Given the description of an element on the screen output the (x, y) to click on. 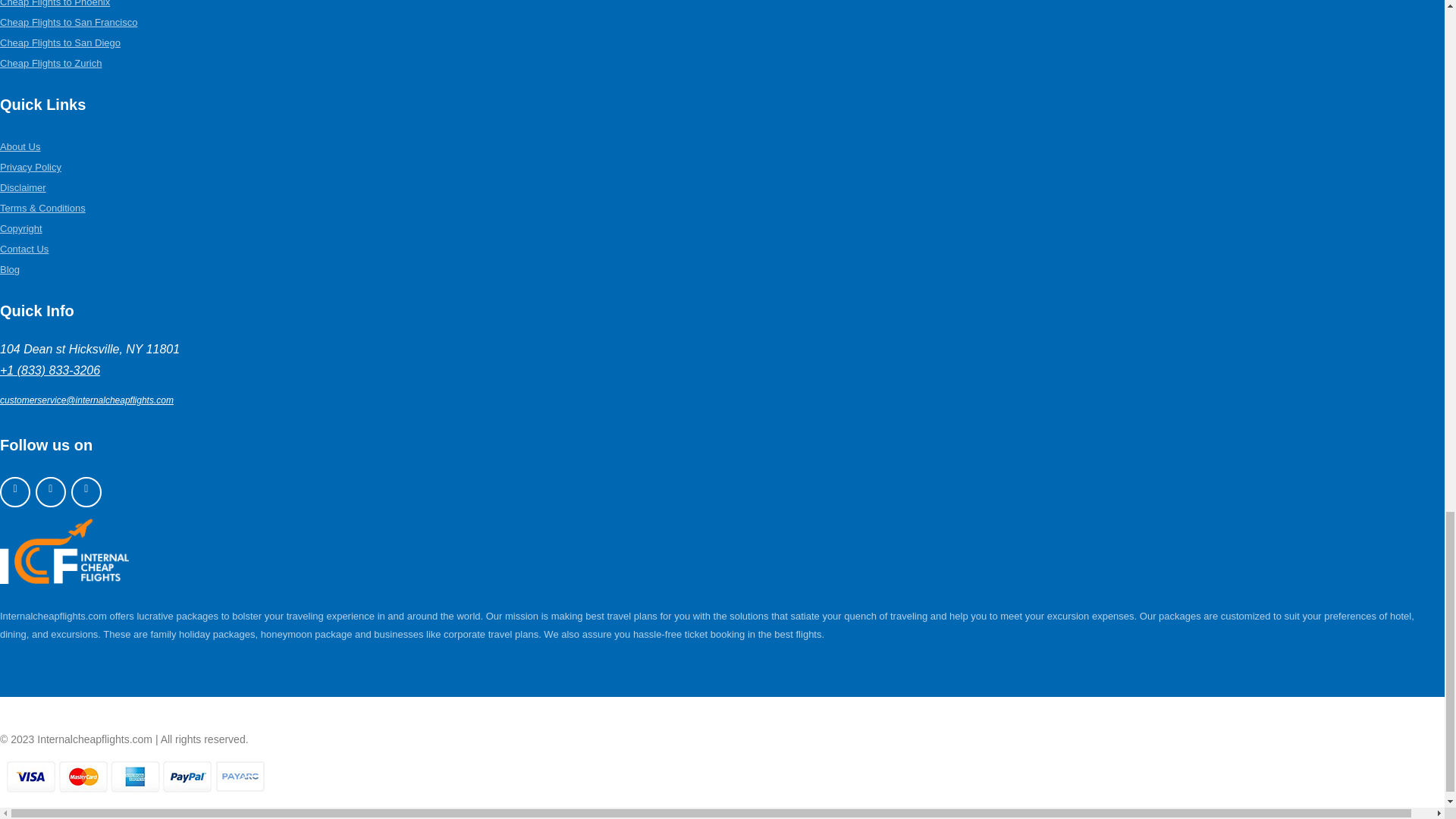
Disclaimer (23, 187)
Privacy Policy (30, 166)
Copyright (21, 228)
About Us (20, 146)
Cheap Flights to San Francisco (68, 21)
Blog (10, 269)
Cheap Flights to Zurich (50, 62)
Contact Us (24, 248)
Cheap Flights to San Diego (60, 42)
Cheap Flights to Phoenix (55, 3)
